Given the description of an element on the screen output the (x, y) to click on. 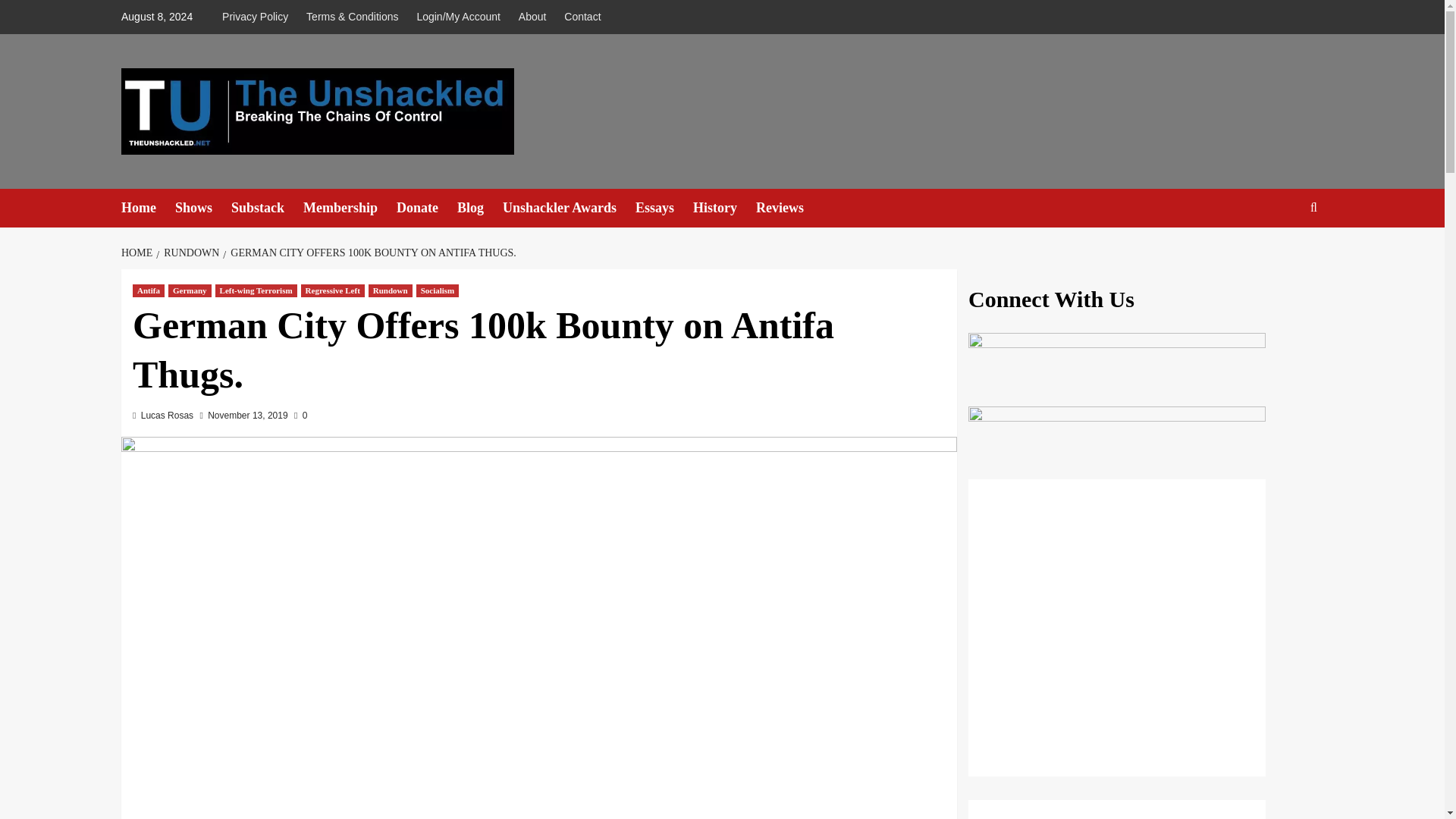
Regressive Left (333, 290)
Membership (349, 208)
Contact (582, 17)
Privacy Policy (258, 17)
Home (147, 208)
Rundown (390, 290)
History (724, 208)
GERMAN CITY OFFERS 100K BOUNTY ON ANTIFA THUGS. (370, 252)
Socialism (438, 290)
Essays (663, 208)
